Given the description of an element on the screen output the (x, y) to click on. 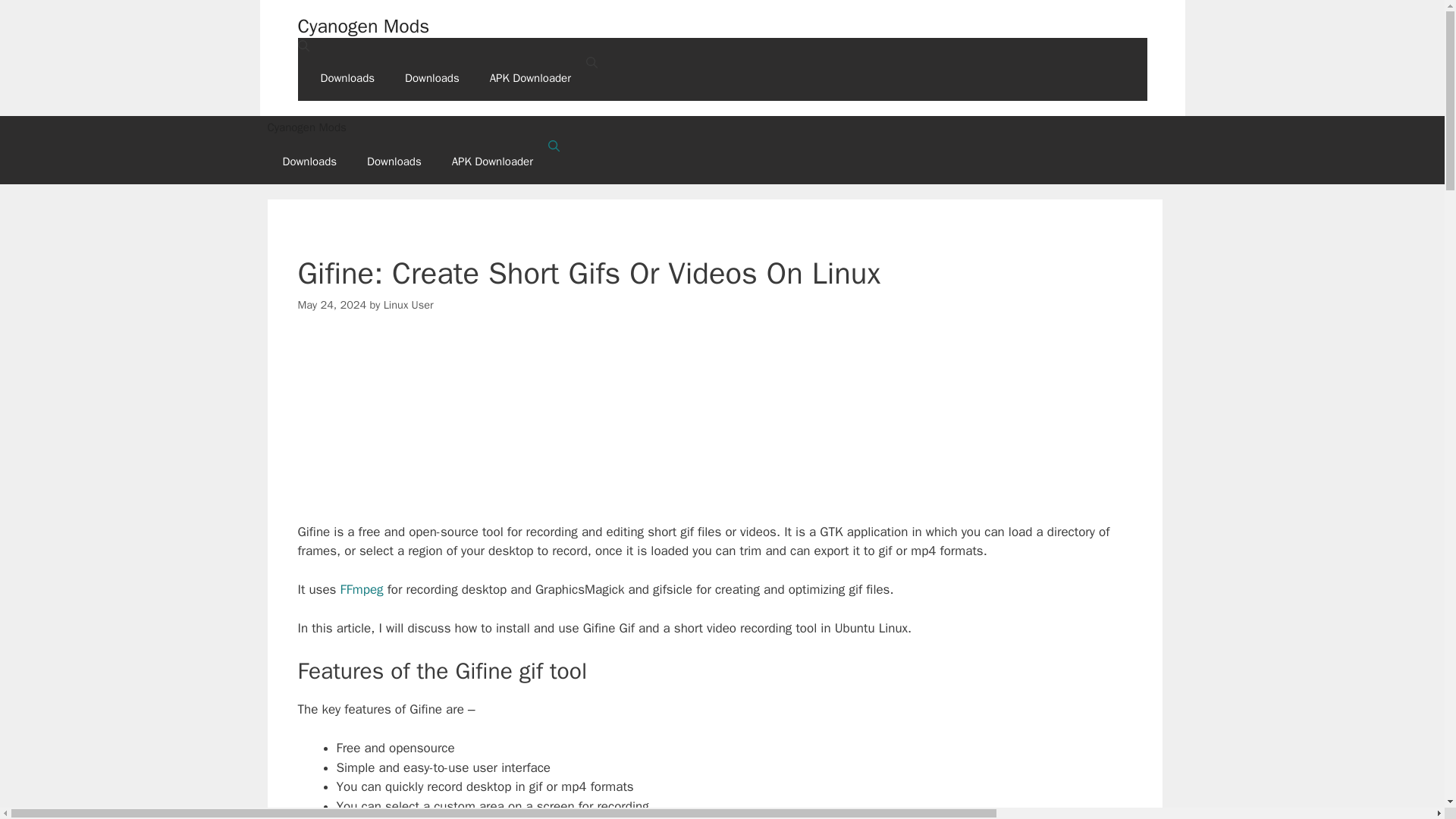
Downloads (394, 160)
FFmpeg (362, 589)
View all posts by Linux User (408, 305)
Linux User (408, 305)
Cyanogen Mods (363, 25)
APK Downloader (492, 160)
Downloads (347, 76)
Downloads (309, 160)
Cyanogen Mods (721, 126)
Downloads (432, 76)
